Given the description of an element on the screen output the (x, y) to click on. 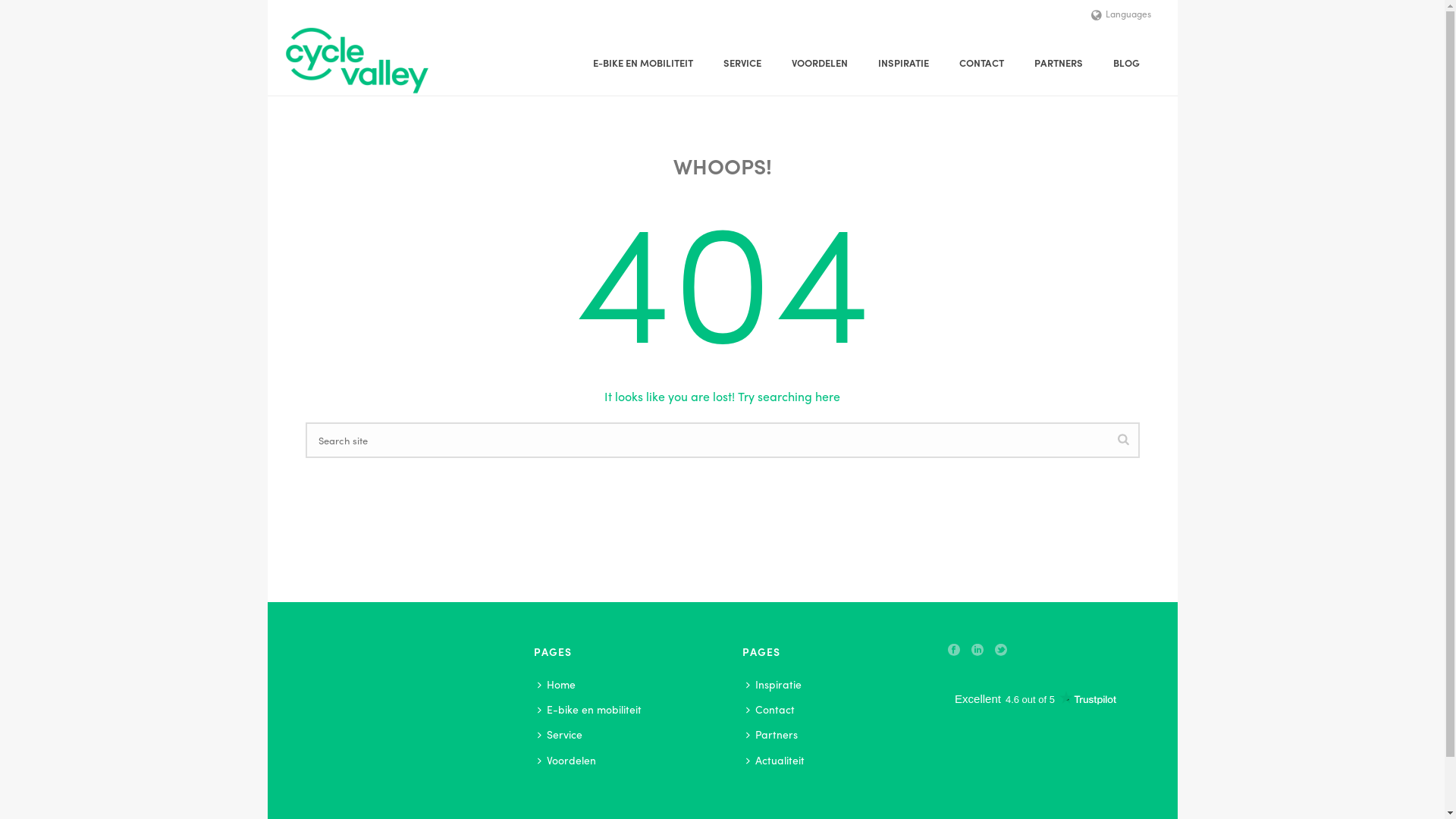
E-BIKE EN MOBILITEIT Element type: text (642, 62)
Actualiteit Element type: text (778, 759)
PARTNERS Element type: text (1058, 62)
 facebook Element type: hover (953, 649)
Contact Element type: text (773, 708)
Partners Element type: text (774, 733)
Service Element type: text (563, 733)
E-bike en mobiliteit Element type: text (592, 708)
Voordelen Element type: text (570, 759)
Happy mobility solutions Element type: hover (356, 60)
INSPIRATIE Element type: text (903, 62)
VOORDELEN Element type: text (819, 62)
BLOG Element type: text (1126, 62)
Home Element type: text (559, 683)
CONTACT Element type: text (980, 62)
 twitter Element type: hover (1000, 649)
 linkedin Element type: hover (976, 649)
Inspiratie Element type: text (776, 683)
SERVICE Element type: text (742, 62)
Customer reviews powered by Trustpilot Element type: hover (1035, 698)
Languages Element type: text (1121, 13)
